Given the description of an element on the screen output the (x, y) to click on. 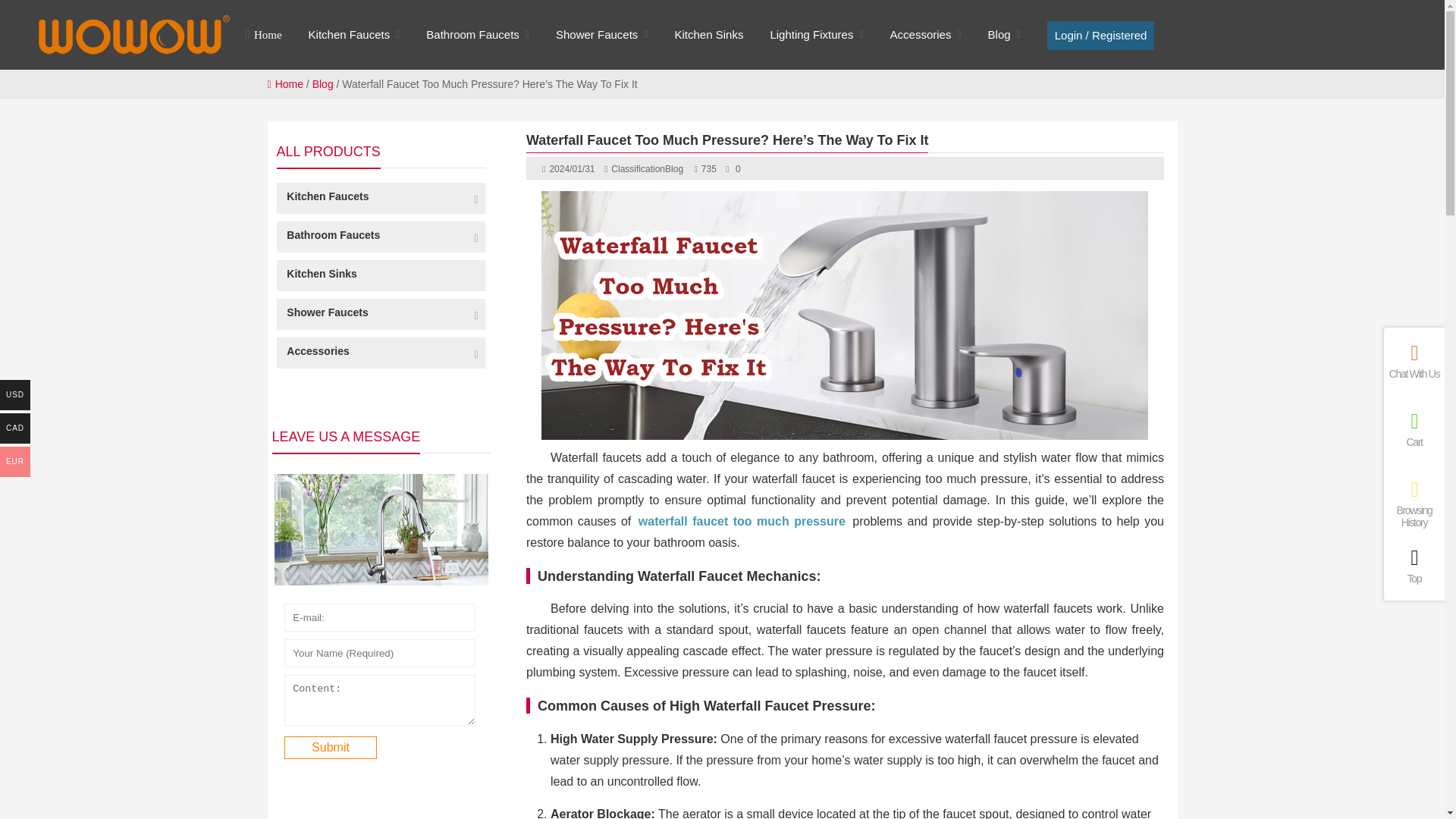
Shower Faucets (596, 34)
Lighting Fixtures (811, 34)
Kitchen Sinks (709, 34)
Submit (330, 747)
Kitchen Faucets (349, 34)
Bathroom Faucets (472, 34)
